Given the description of an element on the screen output the (x, y) to click on. 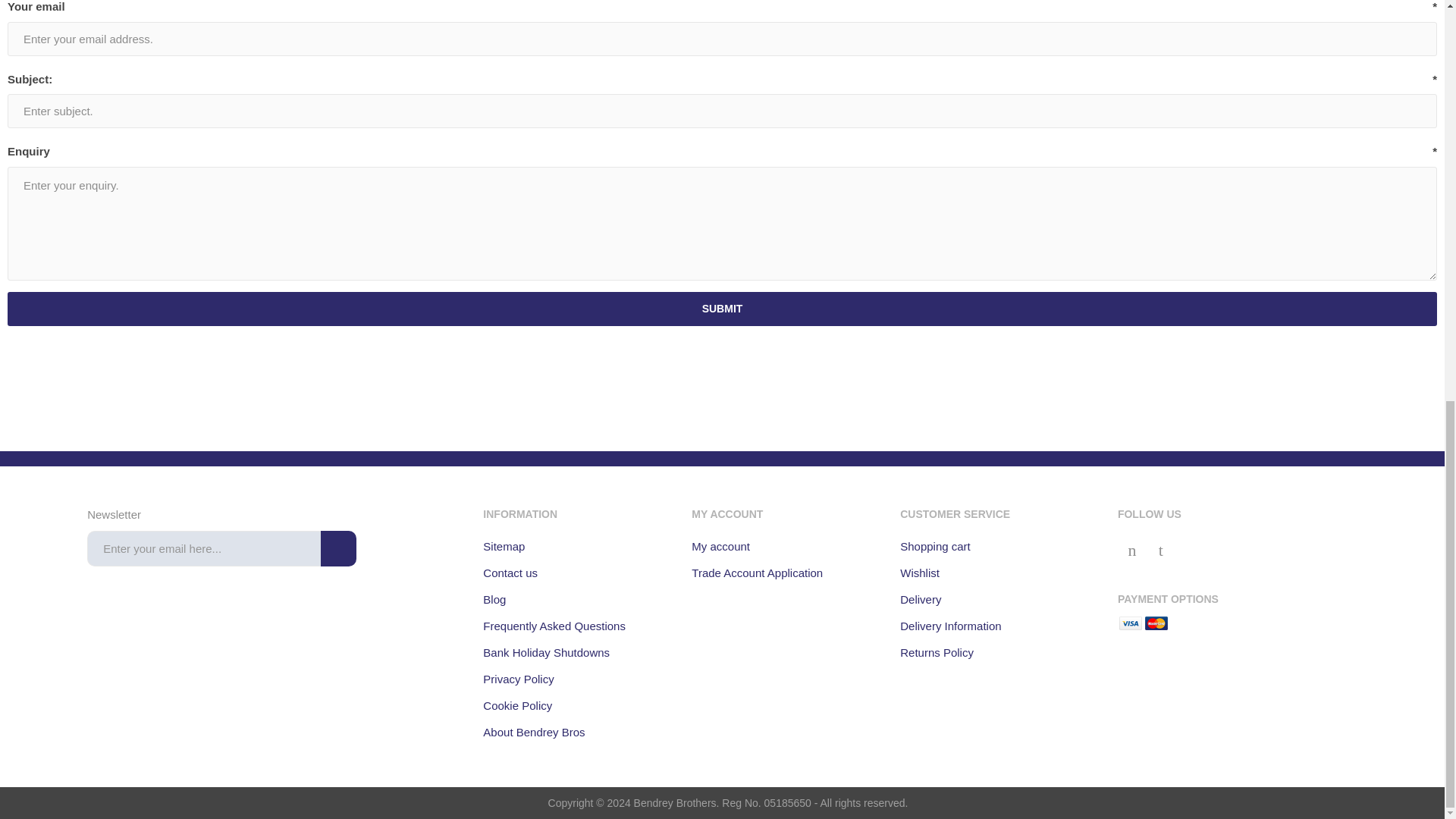
Subscribe (338, 548)
Submit (722, 308)
